Given the description of an element on the screen output the (x, y) to click on. 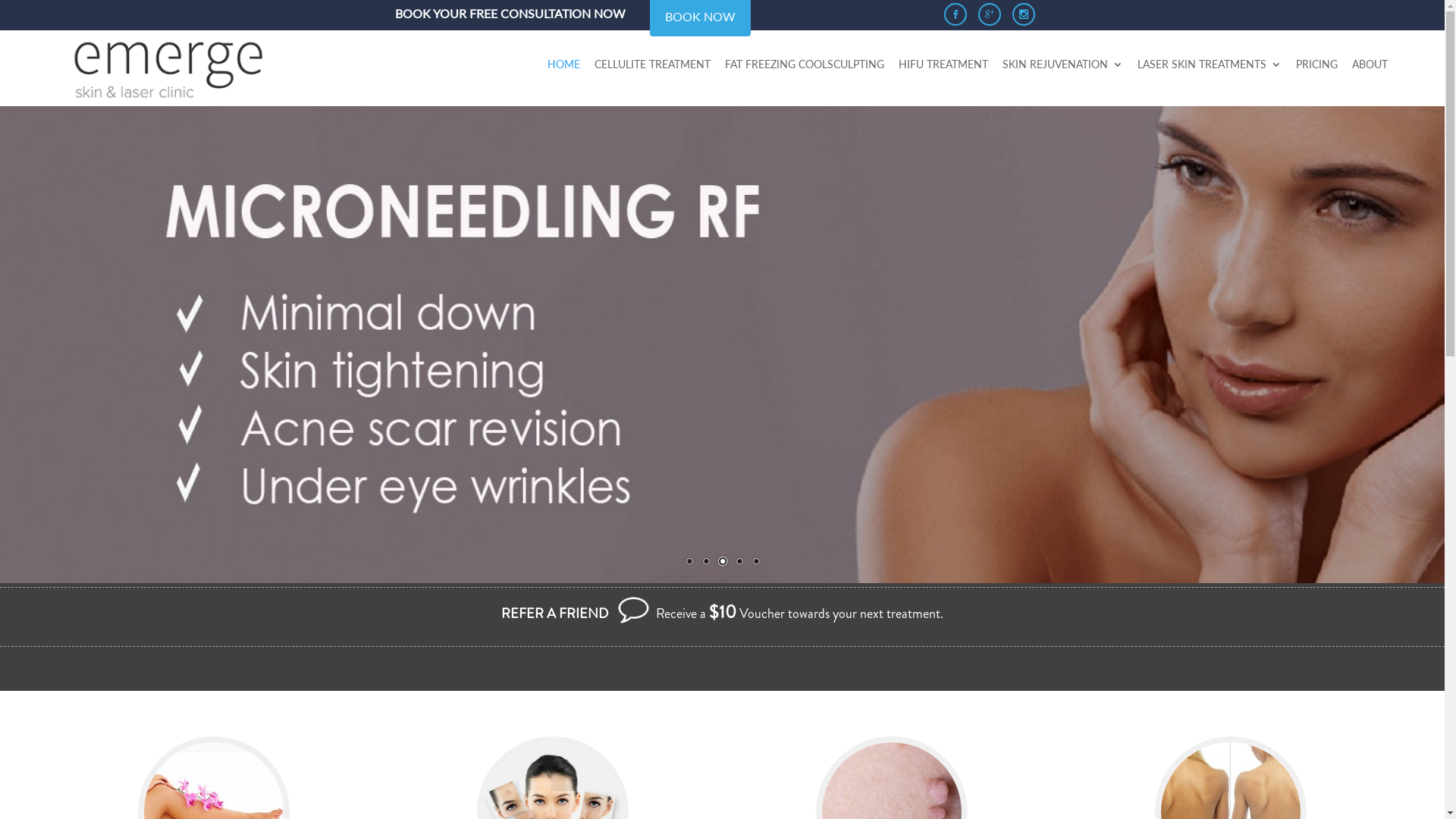
LASER SKIN TREATMENTS Element type: text (1209, 77)
2 Element type: text (705, 562)
1 Element type: text (688, 562)
SKIN REJUVENATION Element type: text (1062, 77)
FAT FREEZING COOLSCULPTING Element type: text (804, 77)
HIFU TREATMENT Element type: text (943, 77)
ABOUT Element type: text (1369, 77)
HOME Element type: text (563, 77)
CELLULITE TREATMENT Element type: text (652, 77)
3 Element type: text (722, 562)
4 Element type: text (739, 562)
5 Element type: text (755, 562)
PRICING Element type: text (1316, 77)
